Given the description of an element on the screen output the (x, y) to click on. 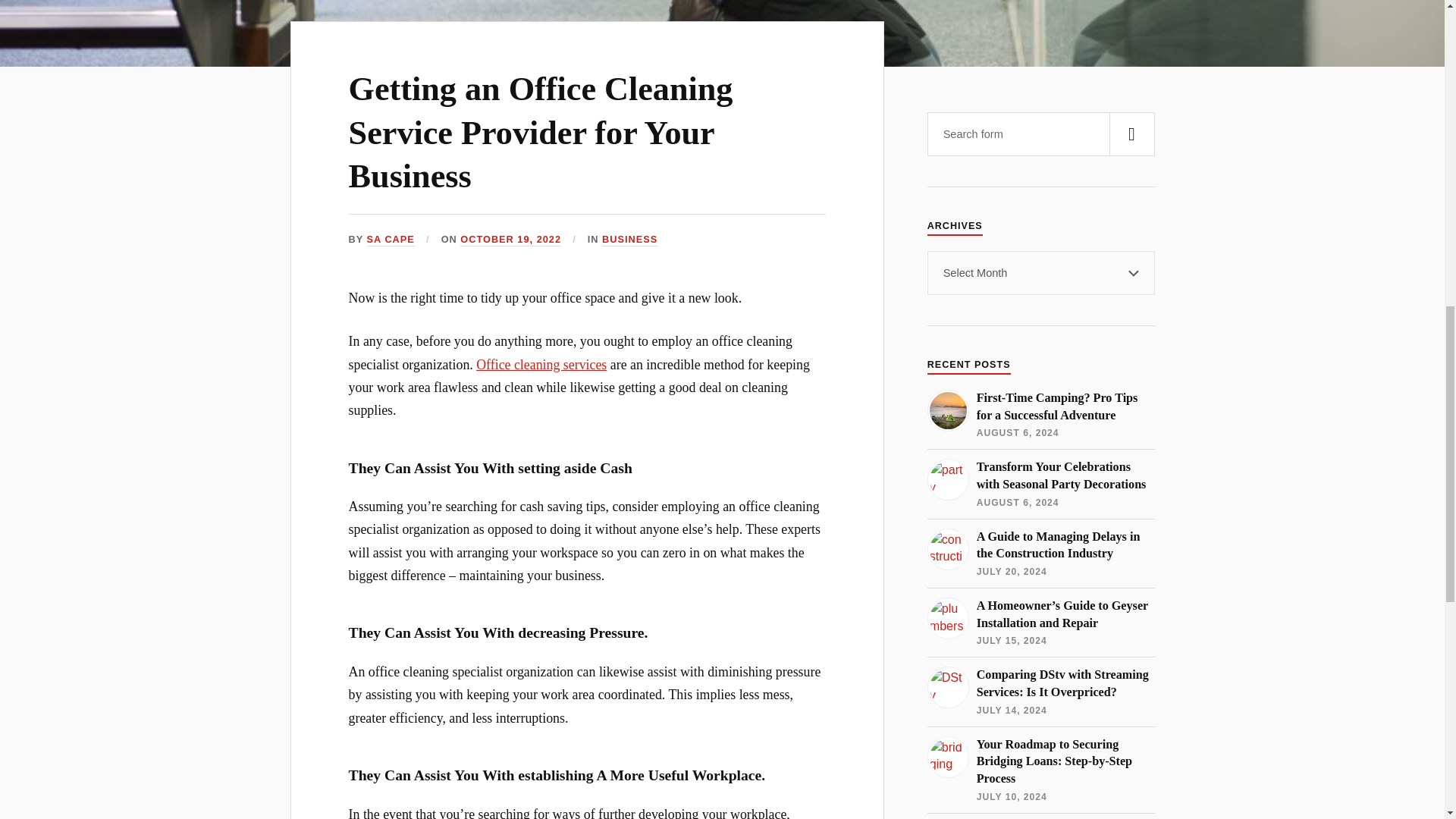
OCTOBER 19, 2022 (510, 239)
Posts by SA Cape (390, 239)
SA CAPE (390, 239)
BUSINESS (630, 239)
Office cleaning services (541, 364)
